Given the description of an element on the screen output the (x, y) to click on. 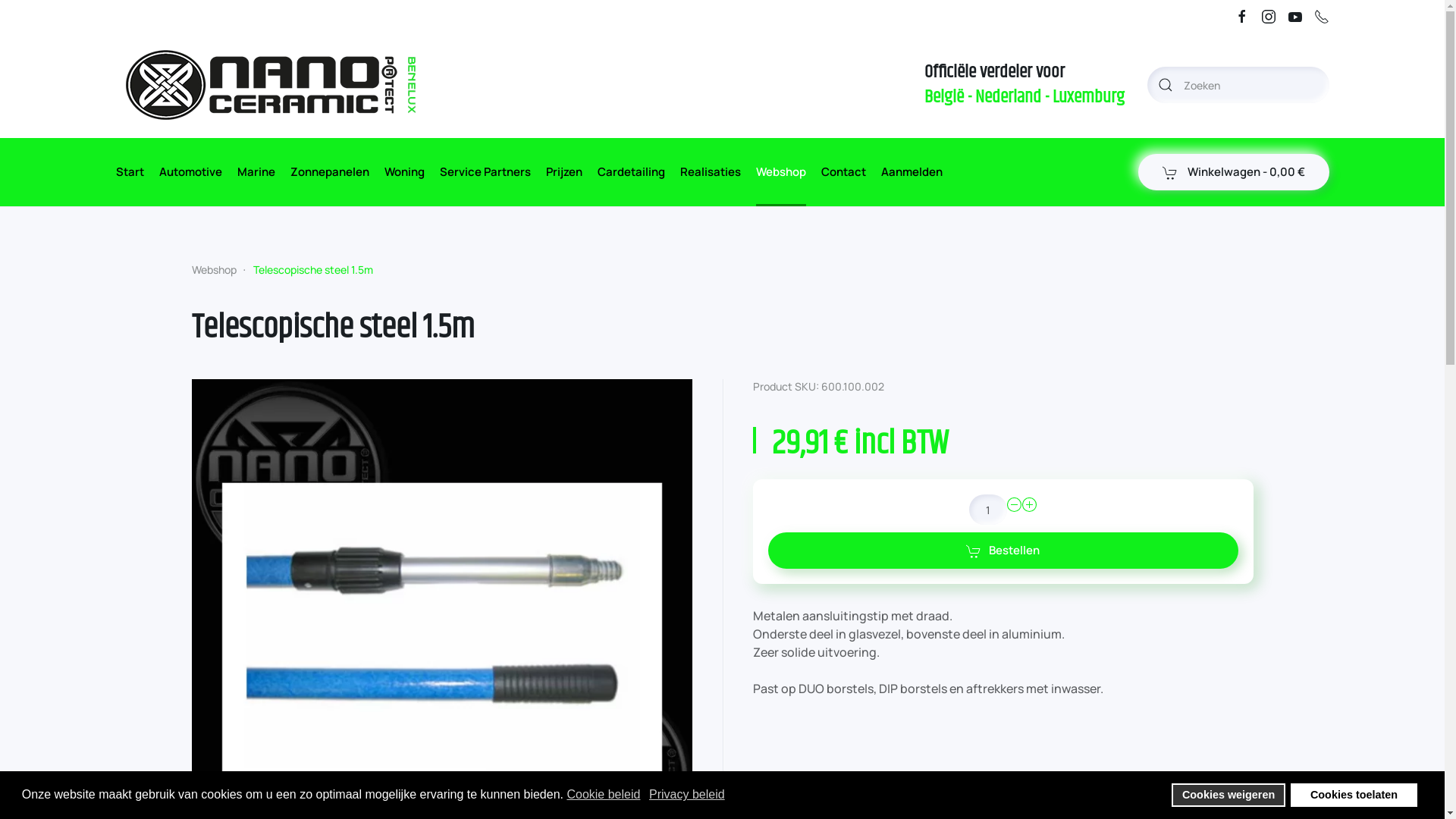
Prijzen Element type: text (563, 172)
Contact Element type: text (842, 172)
Privacy beleid Element type: text (688, 794)
Cookies toelaten Element type: text (1353, 794)
Cookie beleid Element type: text (604, 794)
Cookies weigeren Element type: text (1227, 794)
Webshop Element type: text (213, 269)
Automotive Element type: text (190, 172)
Aanmelden Element type: text (911, 172)
Bestellen Element type: text (1002, 550)
Marine Element type: text (255, 172)
Zonnepanelen Element type: text (329, 172)
Realisaties Element type: text (709, 172)
Service Partners Element type: text (485, 172)
Webshop Element type: text (779, 172)
Cardetailing Element type: text (630, 172)
Woning Element type: text (403, 172)
Start Element type: text (128, 172)
